Given the description of an element on the screen output the (x, y) to click on. 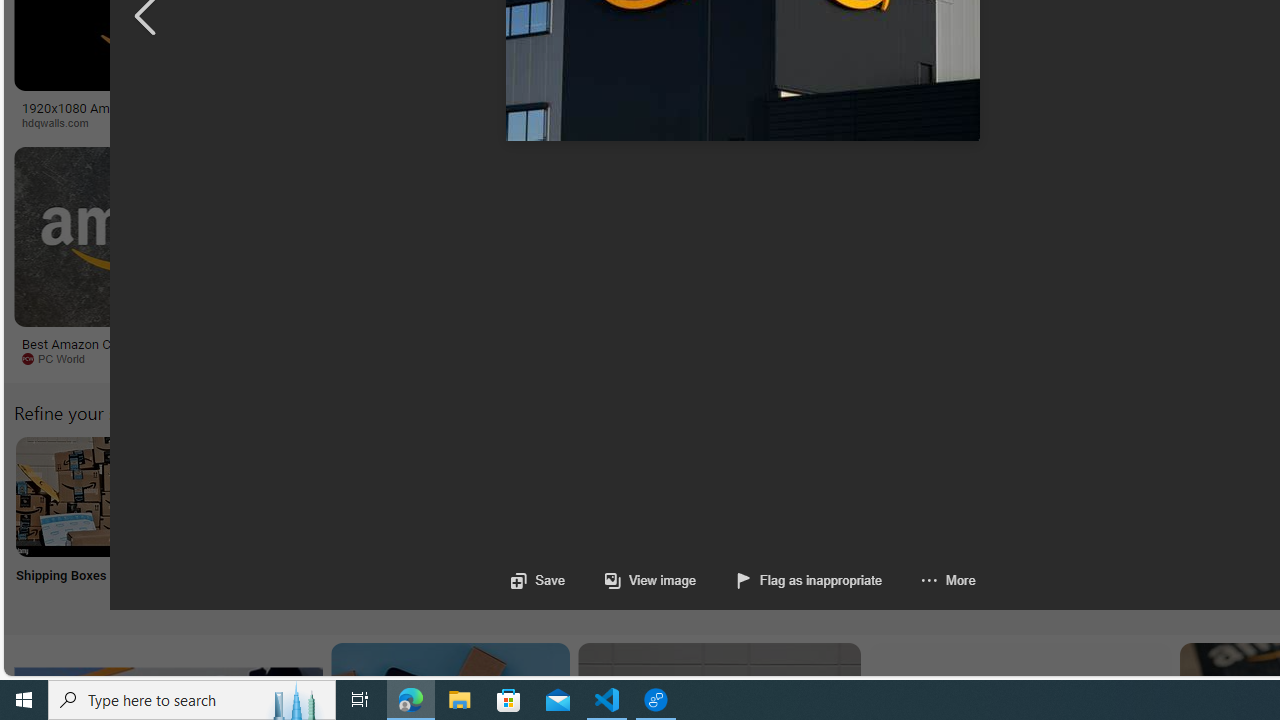
Amazon Package Delivery (735, 496)
The Verge (335, 358)
Amazon Online Shopping Search Online Shopping Search (207, 521)
GOBankingRates (396, 121)
More (928, 580)
Amazon Clip Art Clip Art (339, 521)
Amazon Retail Store (867, 496)
Save (537, 580)
